Given the description of an element on the screen output the (x, y) to click on. 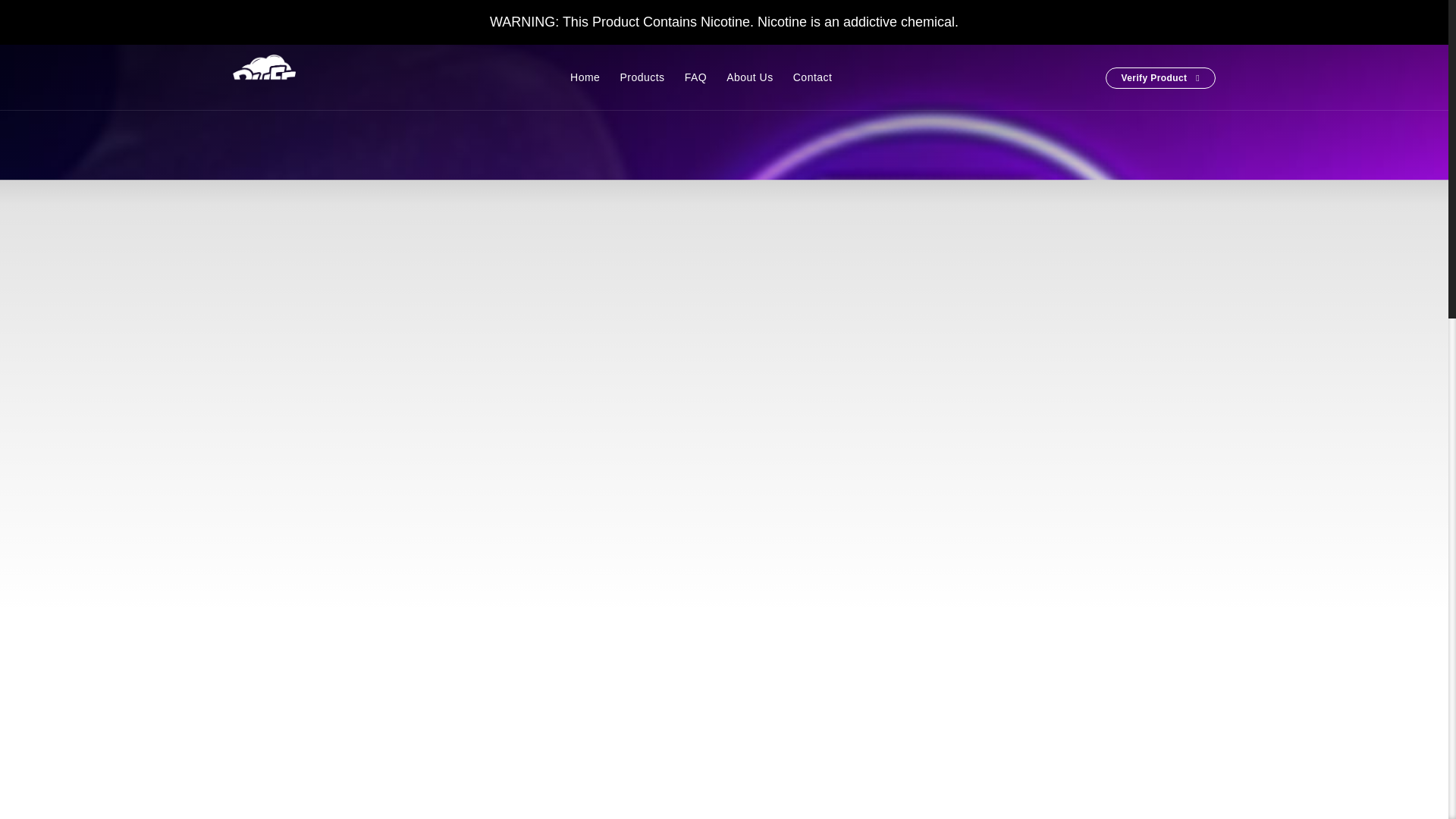
Verify Product (1160, 77)
Products (641, 77)
About Us (750, 77)
